Given the description of an element on the screen output the (x, y) to click on. 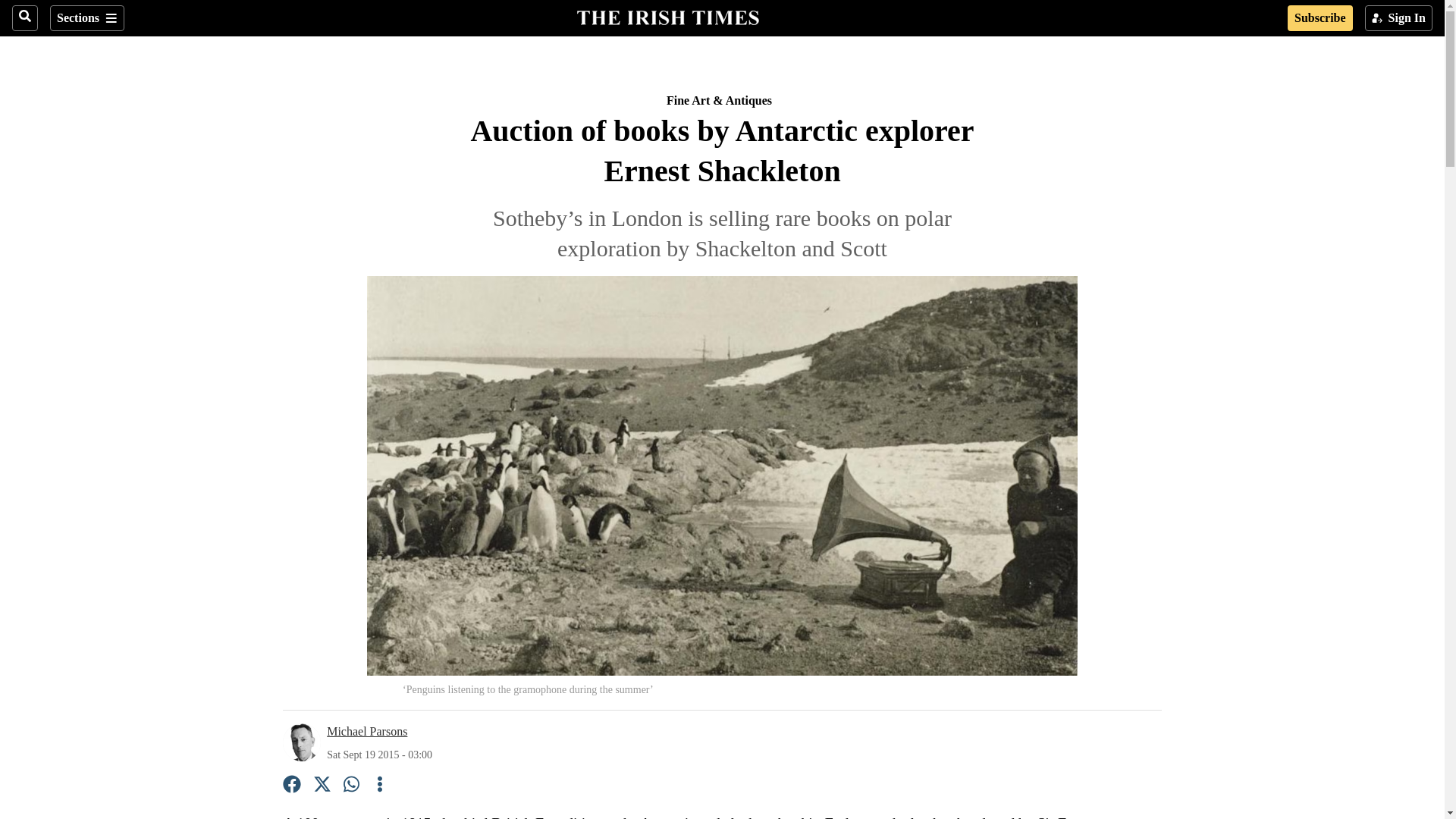
Sections (86, 17)
Sign In (1398, 17)
The Irish Times (667, 16)
Subscribe (1319, 17)
